Given the description of an element on the screen output the (x, y) to click on. 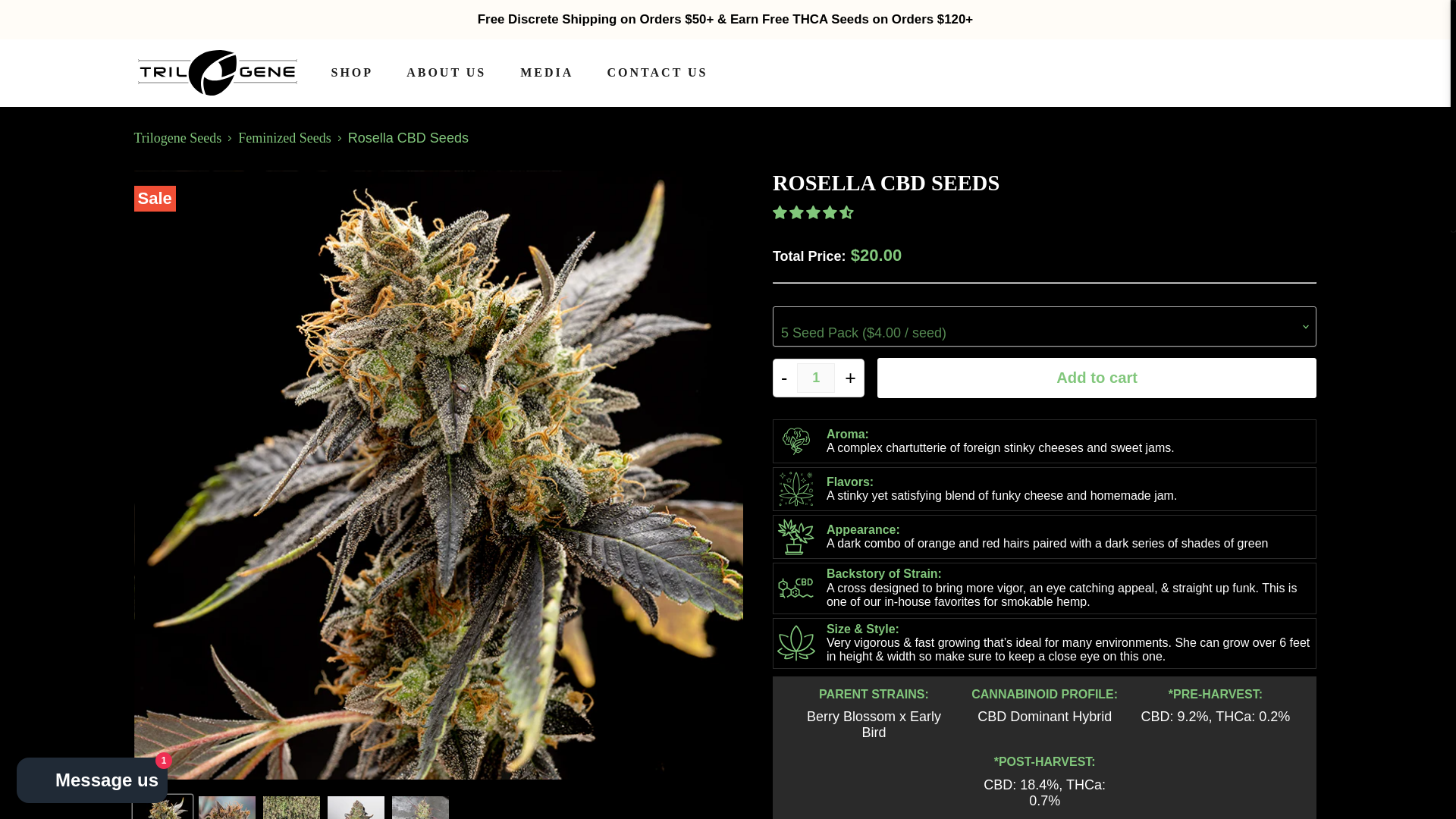
Shopify online store chat (91, 781)
1 (815, 378)
View cart (1289, 72)
